Given the description of an element on the screen output the (x, y) to click on. 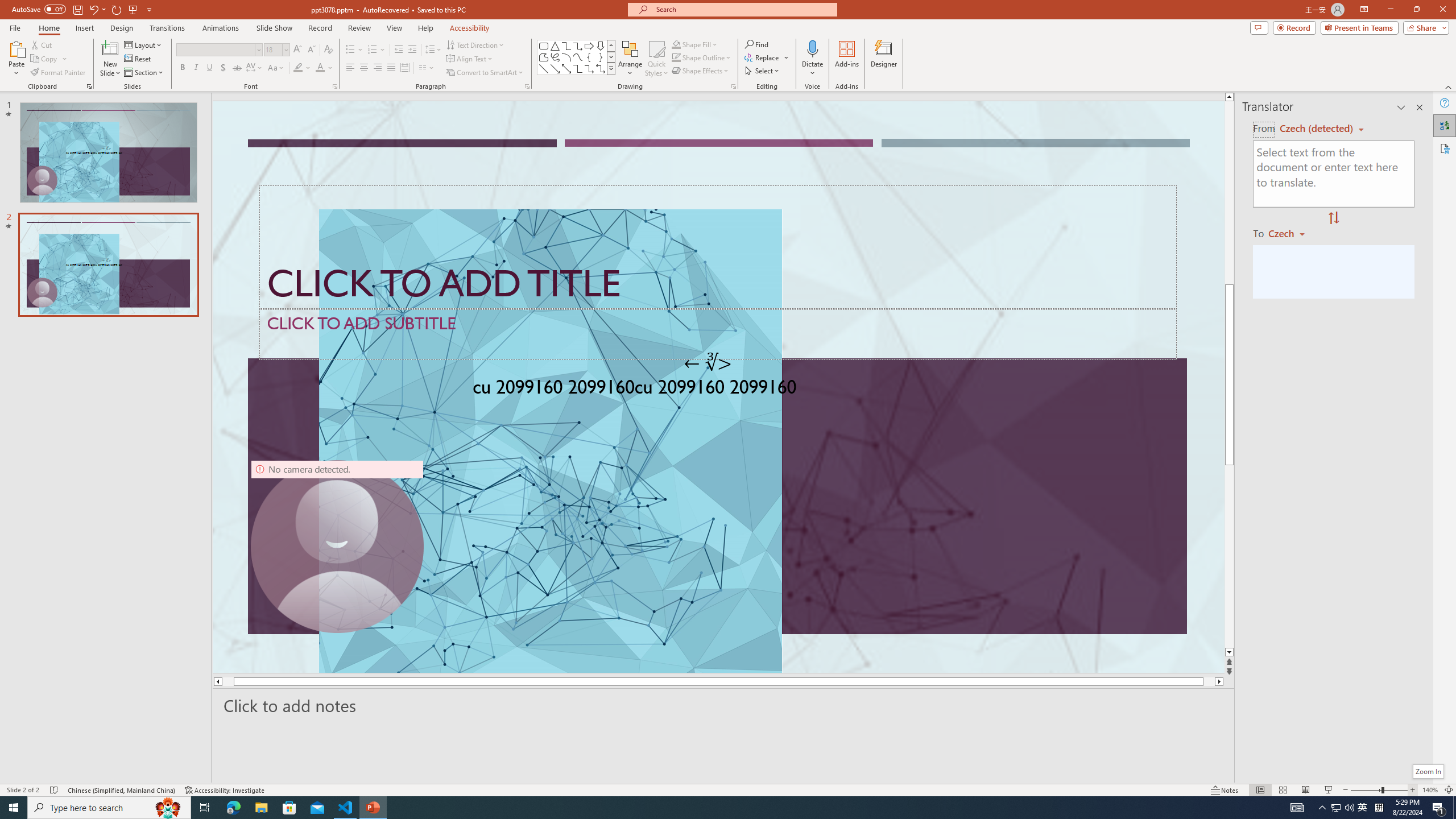
Connector: Elbow Double-Arrow (600, 68)
